Given the description of an element on the screen output the (x, y) to click on. 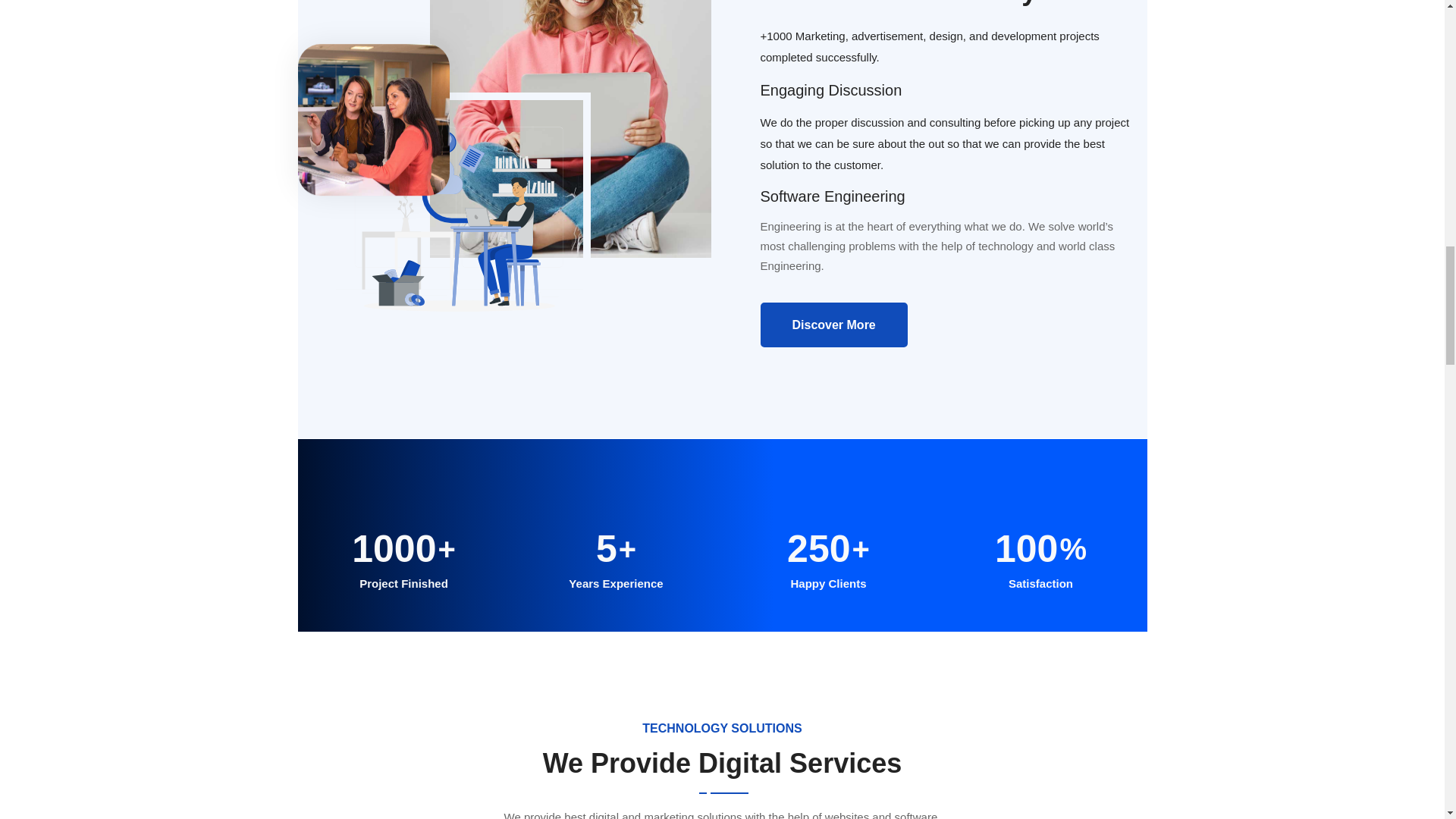
Discover More (833, 324)
